Given the description of an element on the screen output the (x, y) to click on. 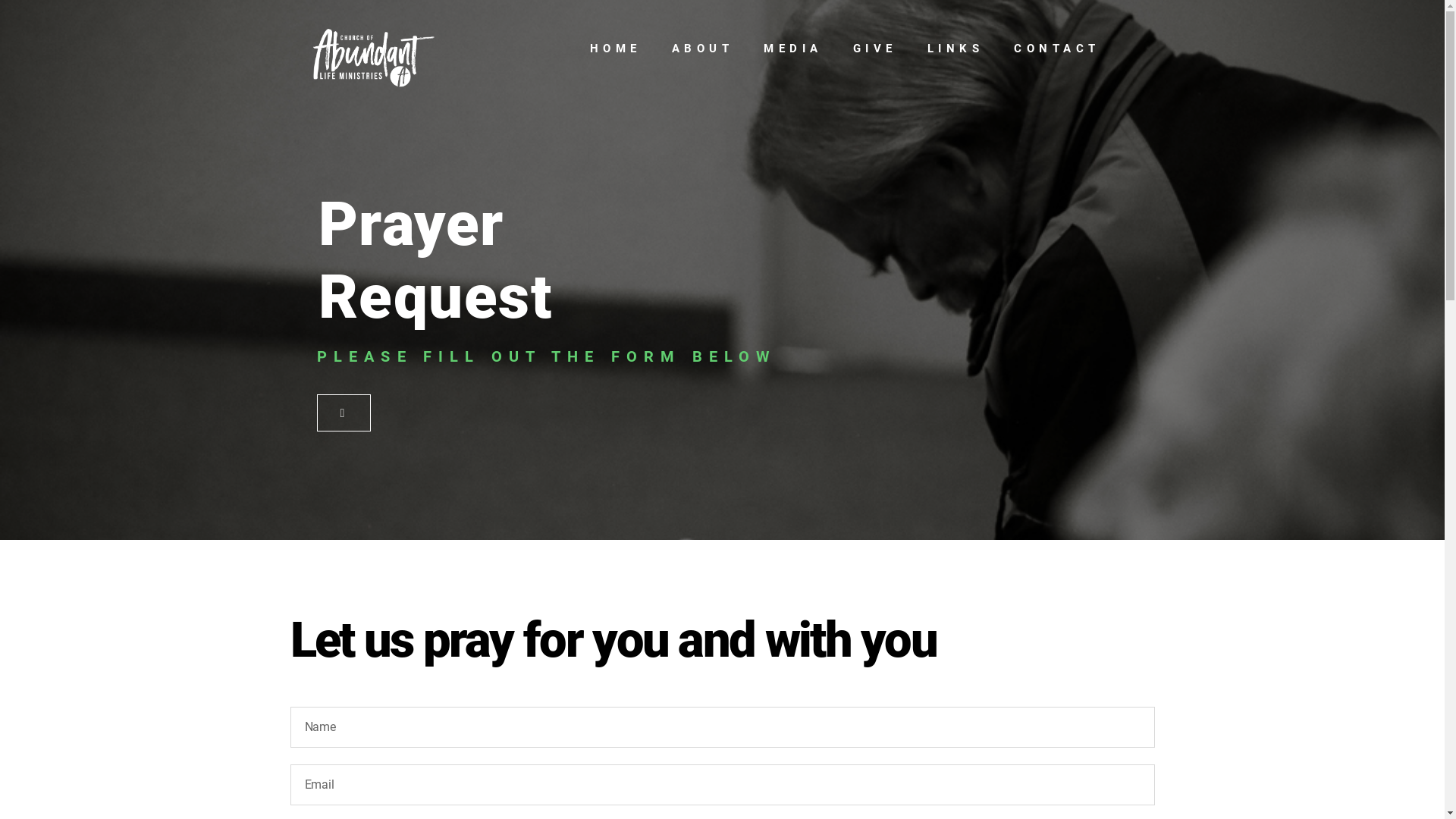
CONTACT Element type: text (1056, 48)
GIVE Element type: text (874, 48)
MEDIA Element type: text (792, 48)
LINKS Element type: text (954, 48)
HOME Element type: text (615, 48)
ABOUT Element type: text (702, 48)
